Given the description of an element on the screen output the (x, y) to click on. 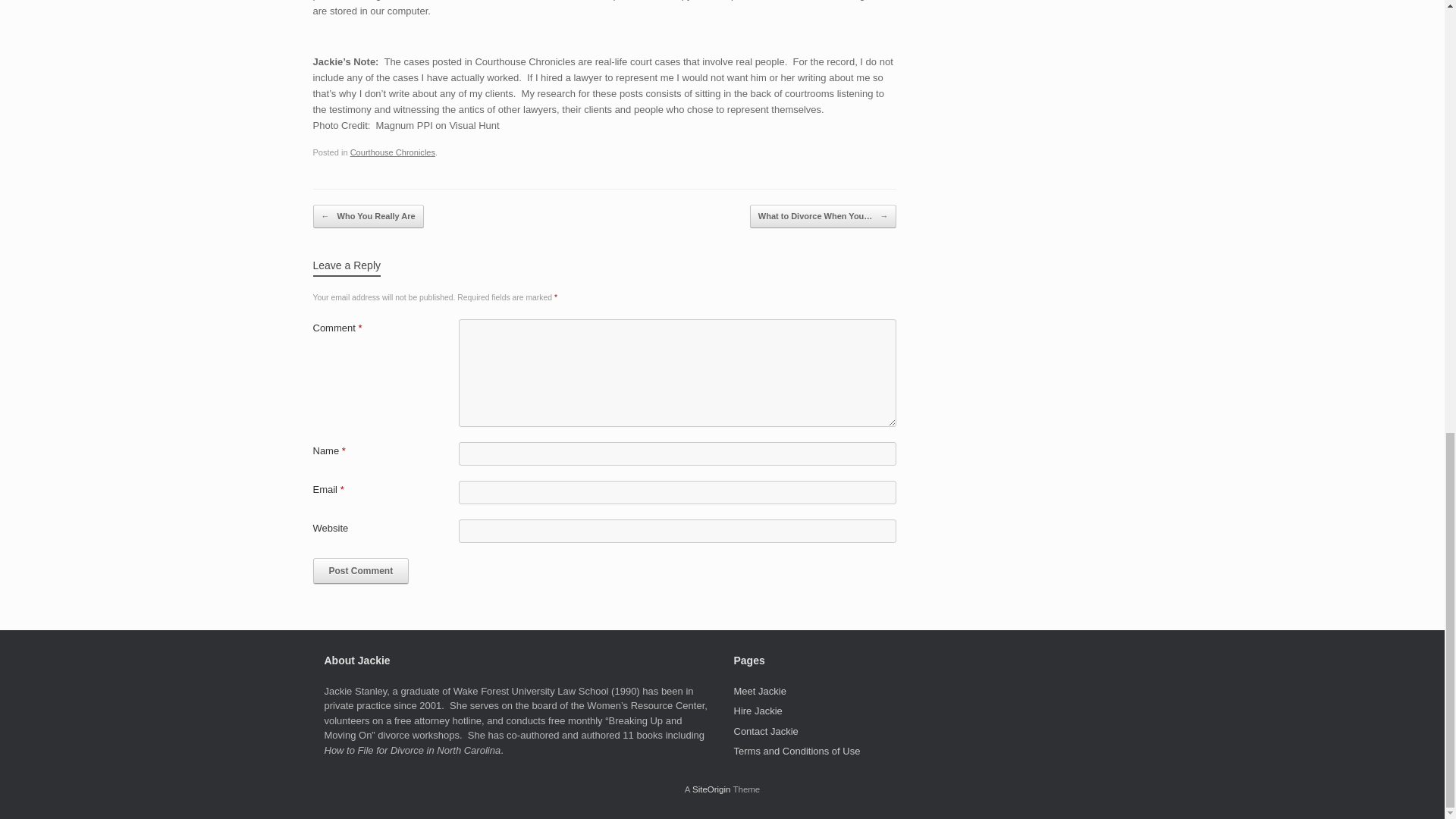
Courthouse Chronicles (392, 152)
Contact Jackie (765, 731)
Meet Jackie (759, 690)
Hire Jackie (758, 710)
SiteOrigin (711, 788)
Terms and Conditions of Use (796, 750)
Post Comment (361, 570)
Post Comment (361, 570)
